Given the description of an element on the screen output the (x, y) to click on. 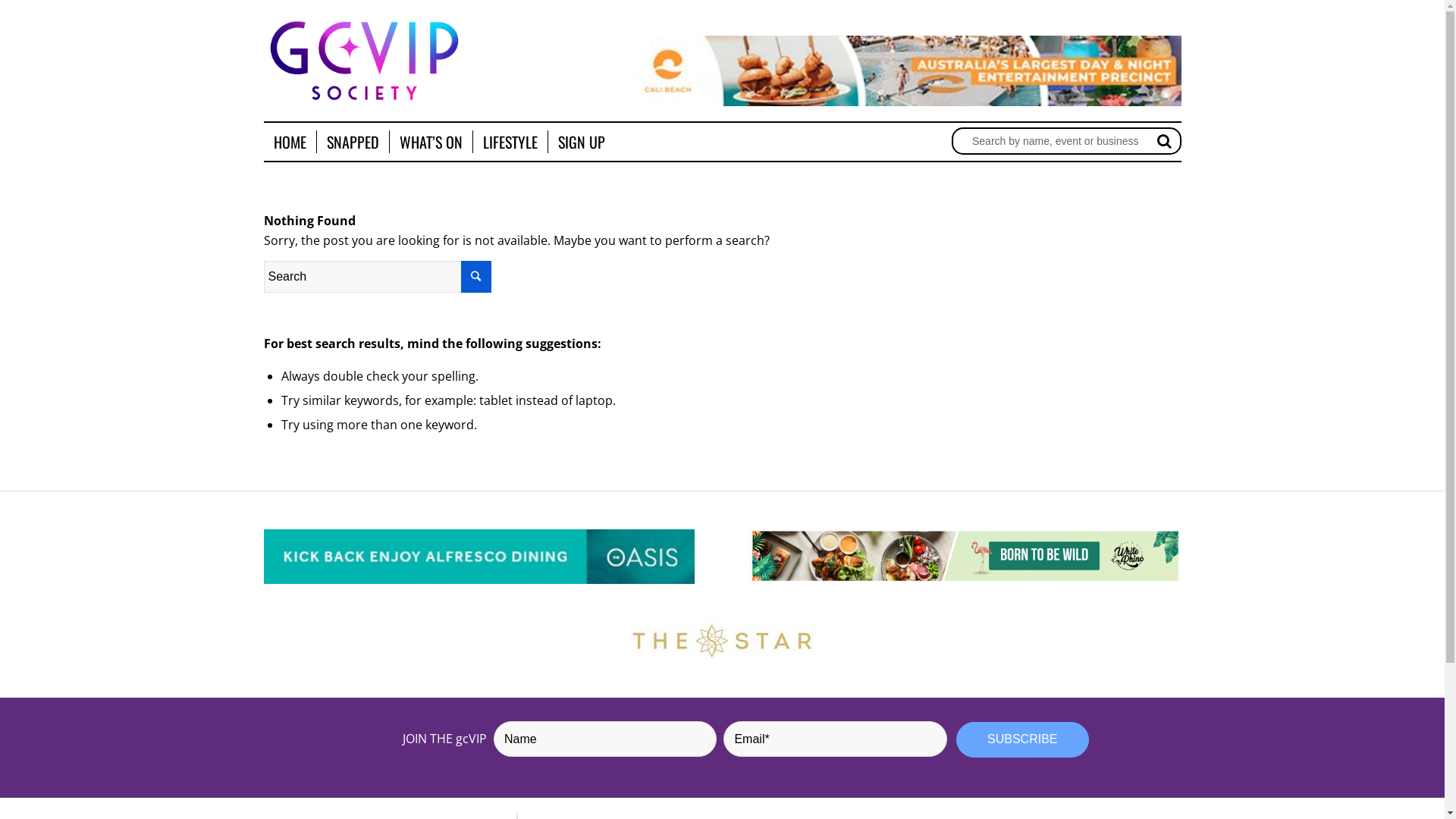
the-star Element type: hover (721, 640)
SIGN UP Element type: text (581, 141)
VERSION 71 Element type: hover (965, 555)
SUBSCRIBE Element type: text (1022, 739)
HOME Element type: text (289, 141)
LIFESTYLE Element type: text (508, 141)
SNAPPED Element type: text (351, 141)
OAS3452-4_GCVIP-FooterHomepageBanner_468x60 Element type: hover (479, 556)
CALI_GCVIP_468x60 Element type: hover (905, 70)
